Given the description of an element on the screen output the (x, y) to click on. 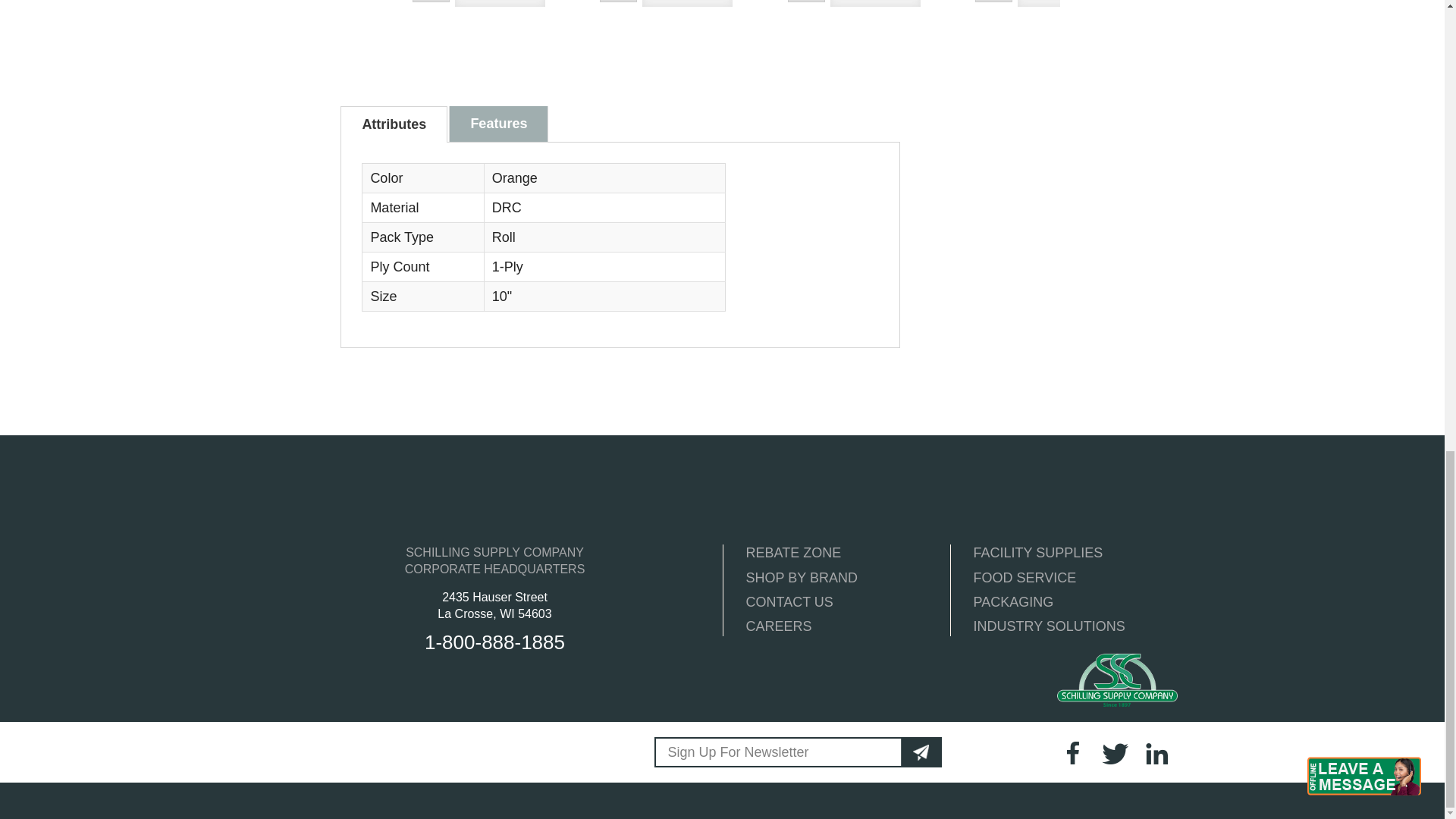
Live chat offline (1364, 776)
